Given the description of an element on the screen output the (x, y) to click on. 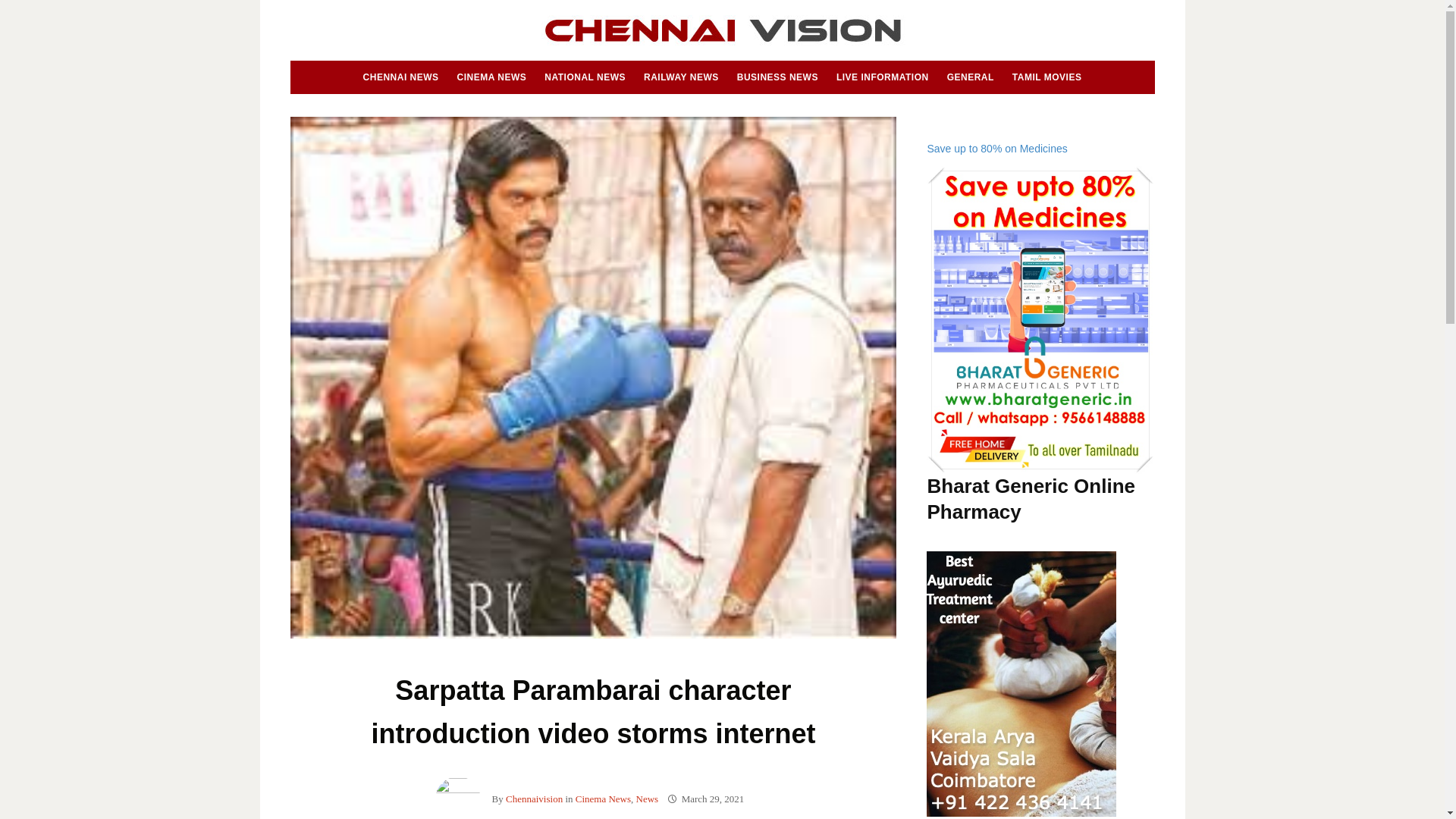
CINEMA NEWS (491, 77)
NATIONAL NEWS (585, 77)
CHENNAI NEWS (401, 77)
RAILWAY NEWS (681, 77)
Posts by Chennaivision (533, 798)
GENERAL (969, 77)
BUSINESS NEWS (777, 77)
LIVE INFORMATION (882, 77)
